Given the description of an element on the screen output the (x, y) to click on. 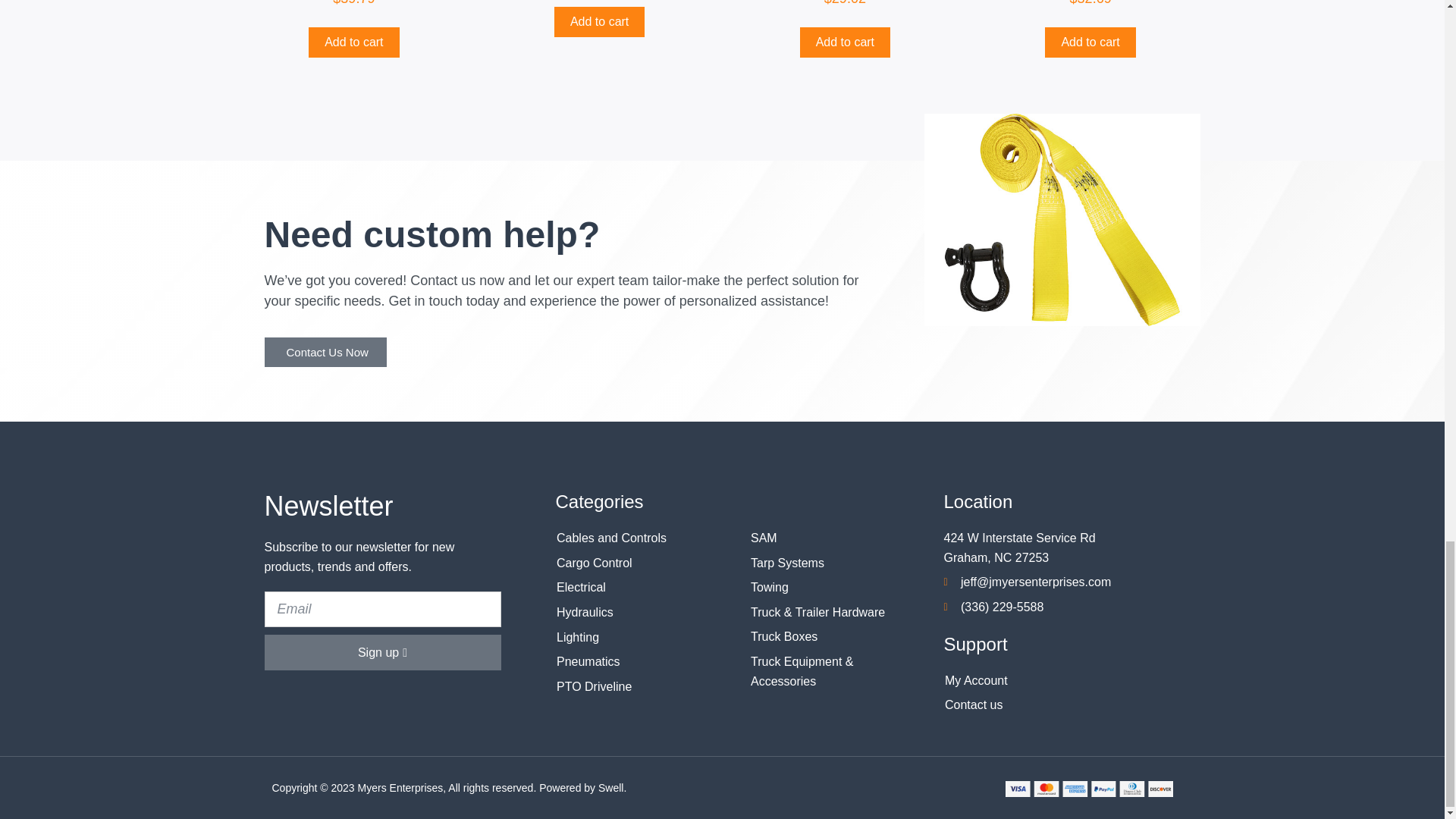
payment.png (1089, 788)
